Given the description of an element on the screen output the (x, y) to click on. 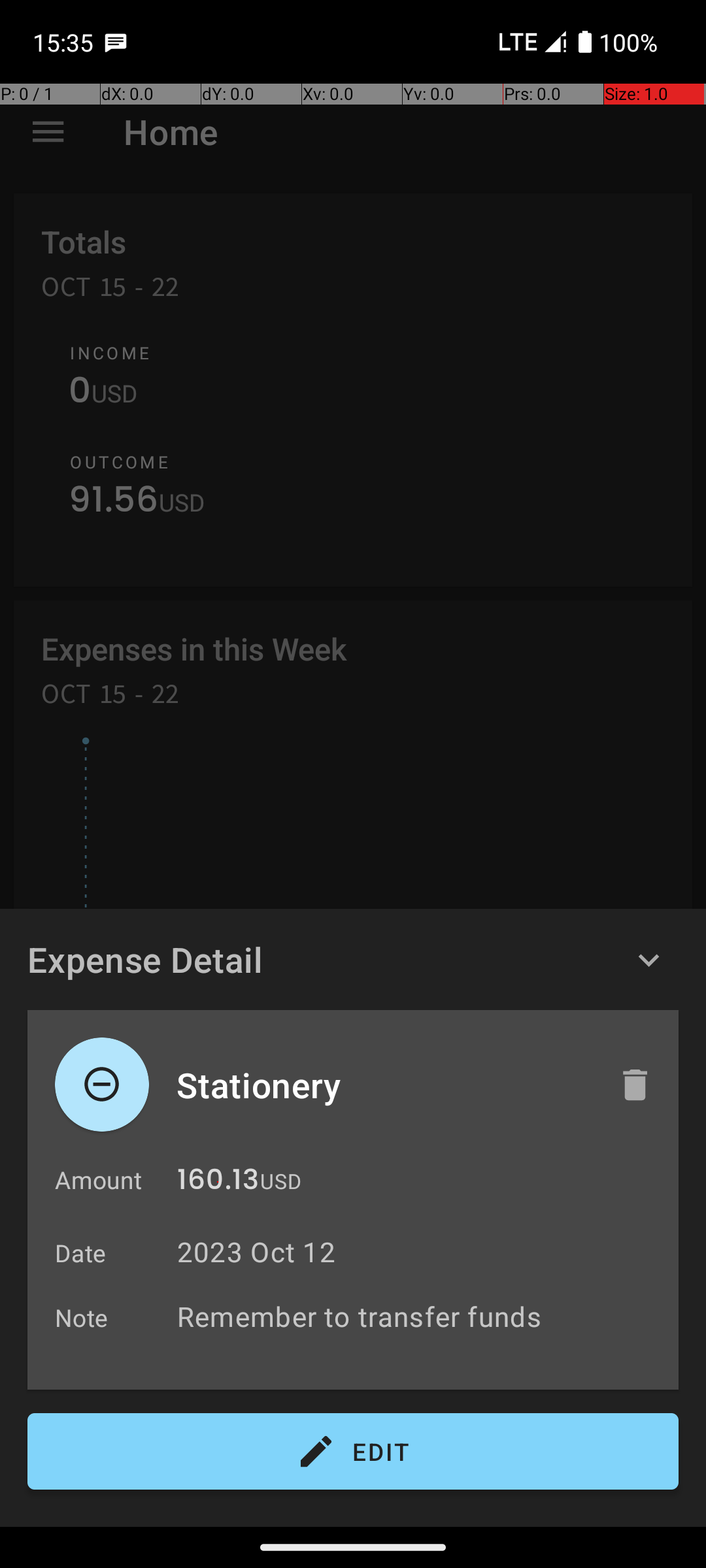
Stationery Element type: android.widget.TextView (383, 1084)
160.13 Element type: android.widget.TextView (217, 1182)
